Given the description of an element on the screen output the (x, y) to click on. 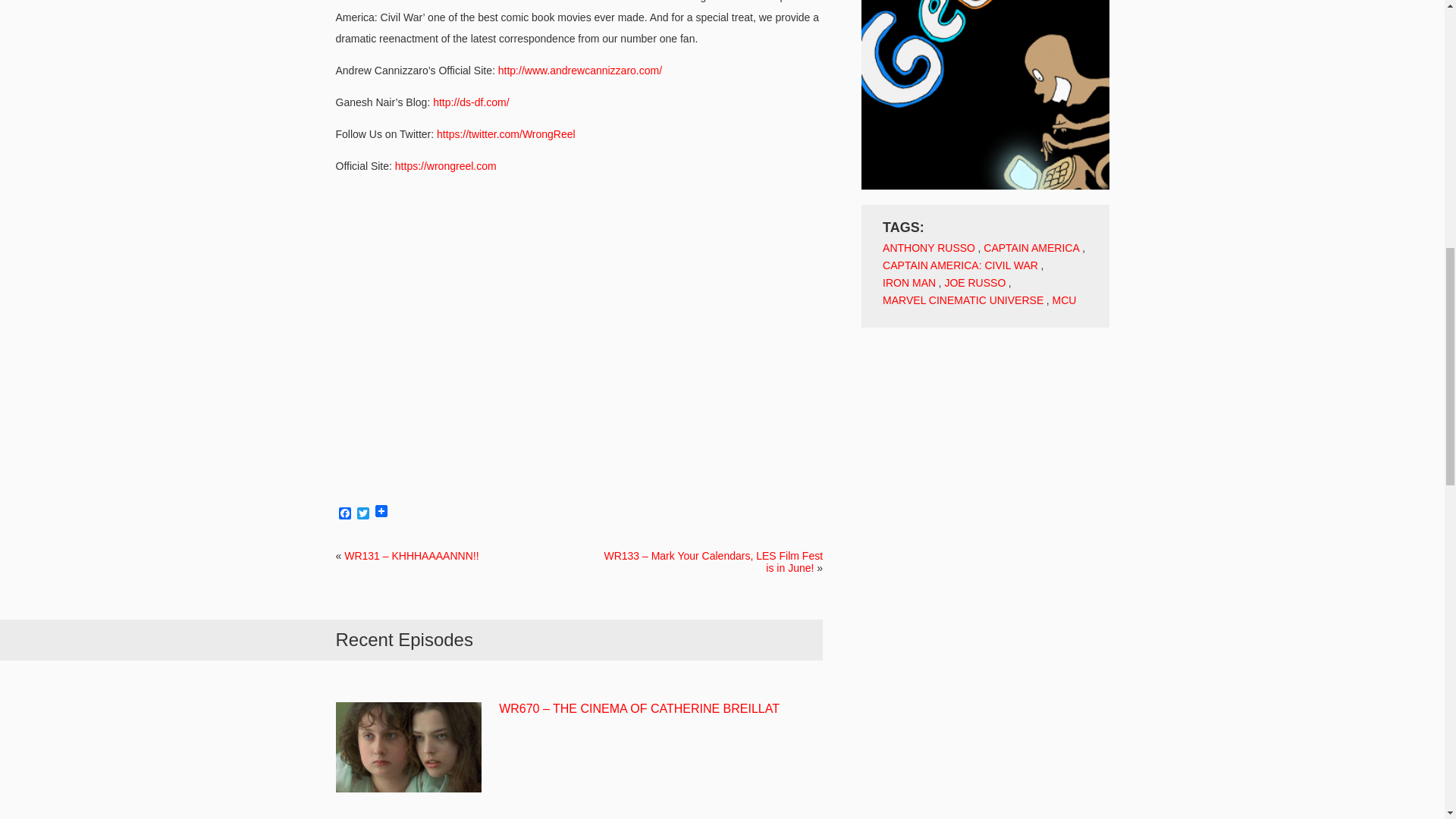
Twitter (362, 513)
Facebook (343, 513)
WR132 - Whose Side Are You On? by Wrong Reel (579, 338)
Twitter (362, 513)
Facebook (343, 513)
